Given the description of an element on the screen output the (x, y) to click on. 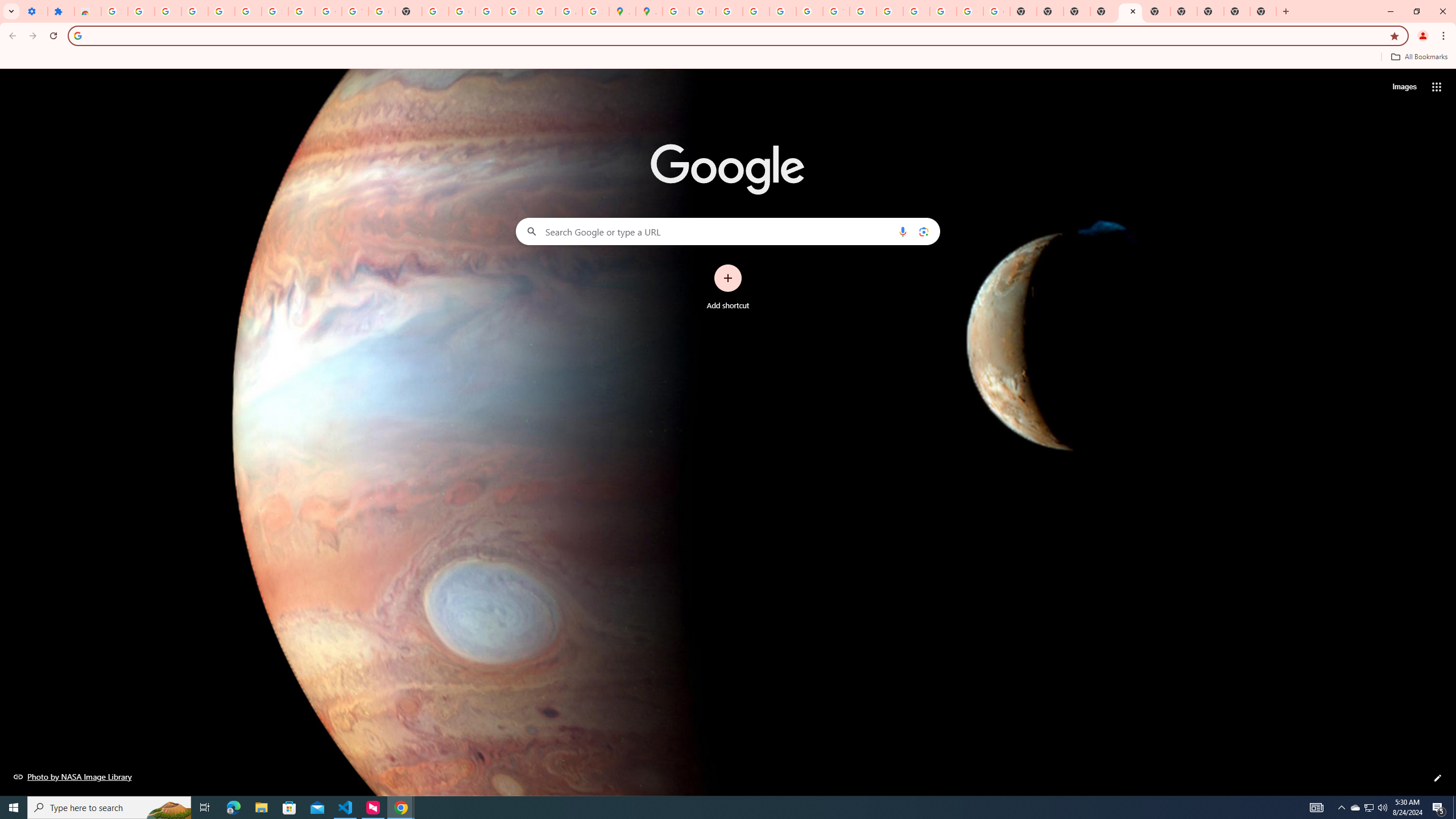
Bookmarks (728, 58)
Search icon (77, 35)
Privacy Help Center - Policies Help (729, 11)
Sign in - Google Accounts (275, 11)
Sign in - Google Accounts (114, 11)
Settings - On startup (34, 11)
Extensions (61, 11)
Delete photos & videos - Computer - Google Photos Help (194, 11)
Sign in - Google Accounts (676, 11)
